Given the description of an element on the screen output the (x, y) to click on. 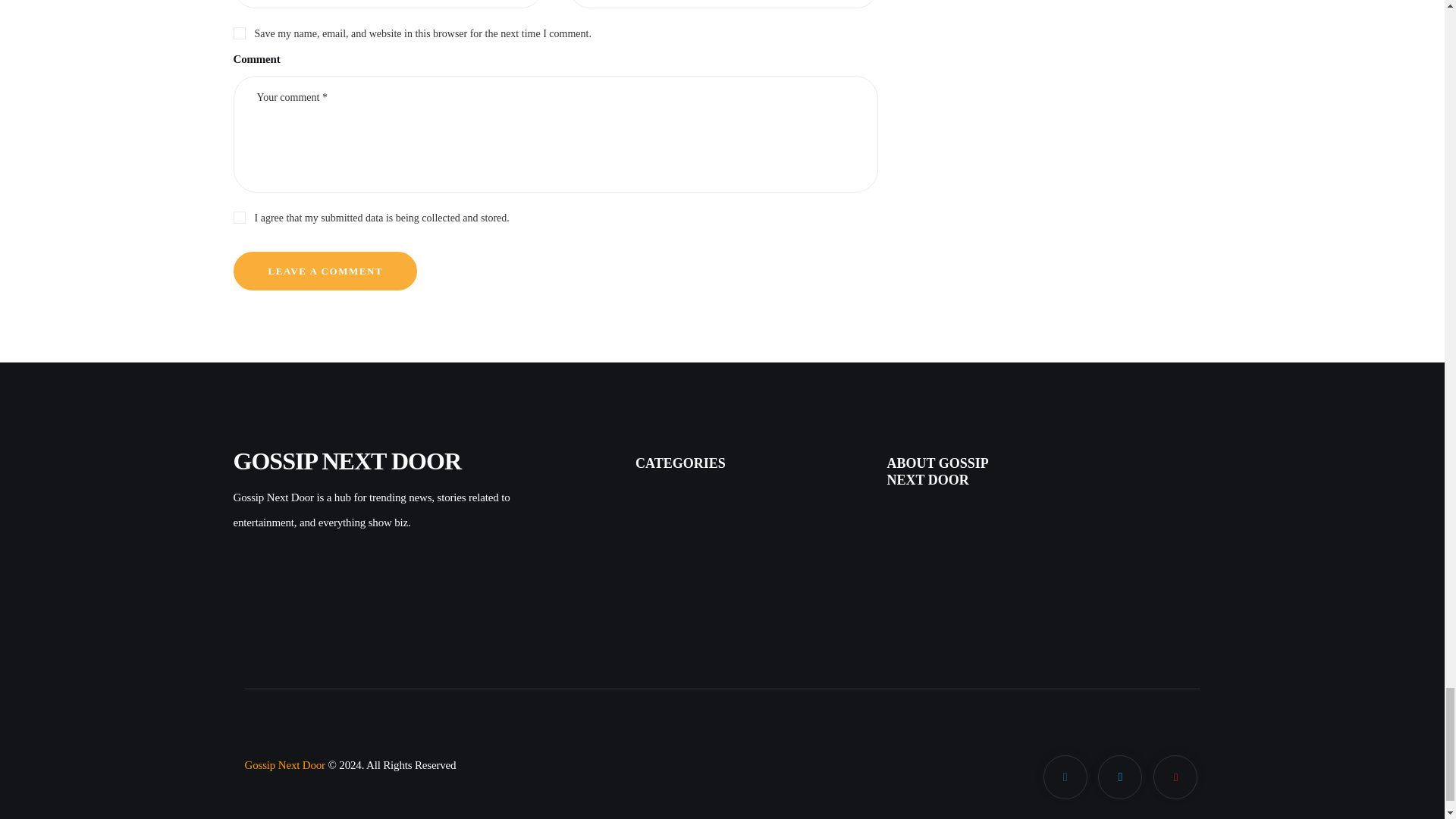
yes (237, 31)
1 (554, 215)
Leave a comment (324, 270)
